Given the description of an element on the screen output the (x, y) to click on. 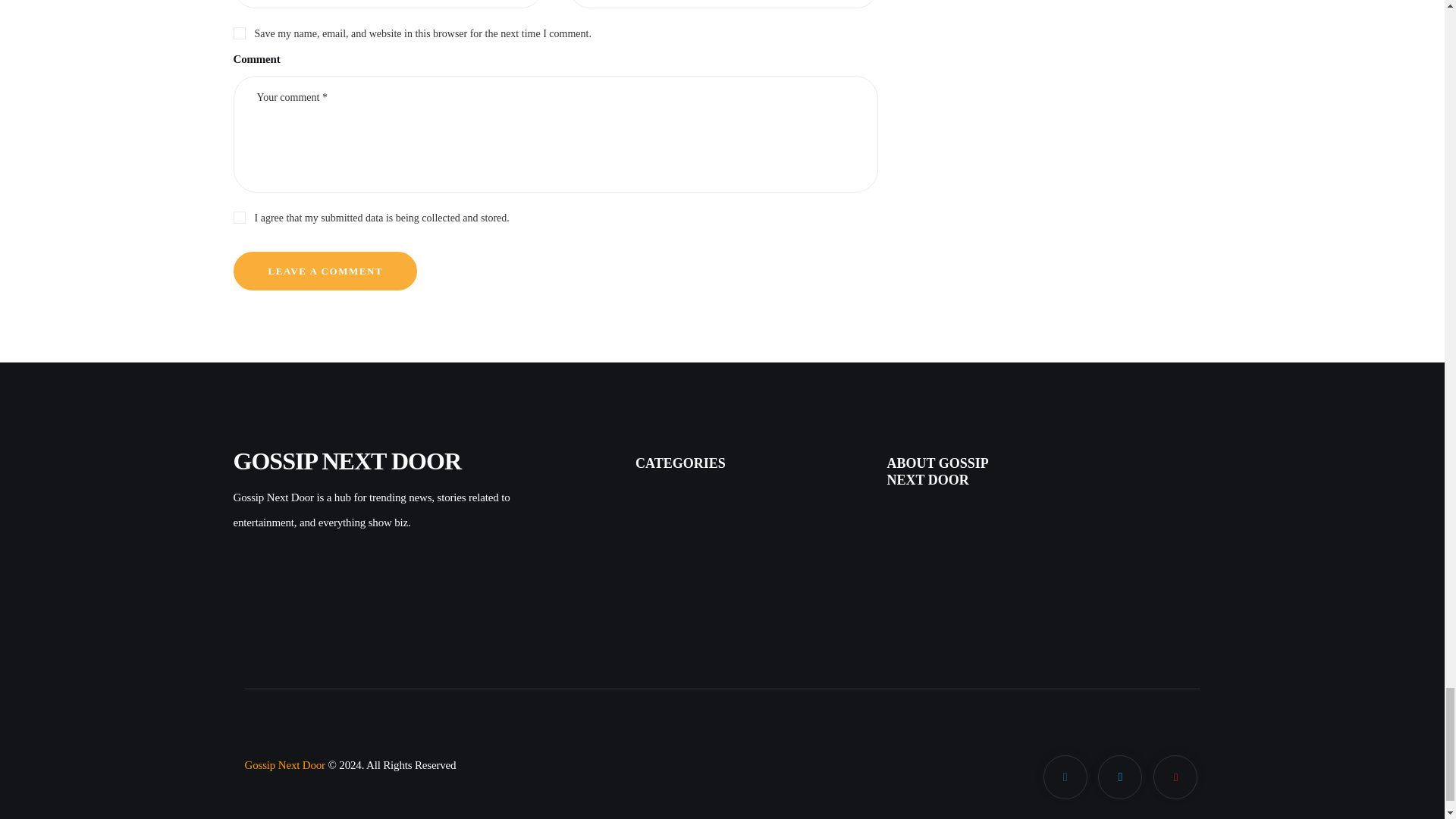
yes (237, 31)
1 (554, 215)
Leave a comment (324, 270)
